Given the description of an element on the screen output the (x, y) to click on. 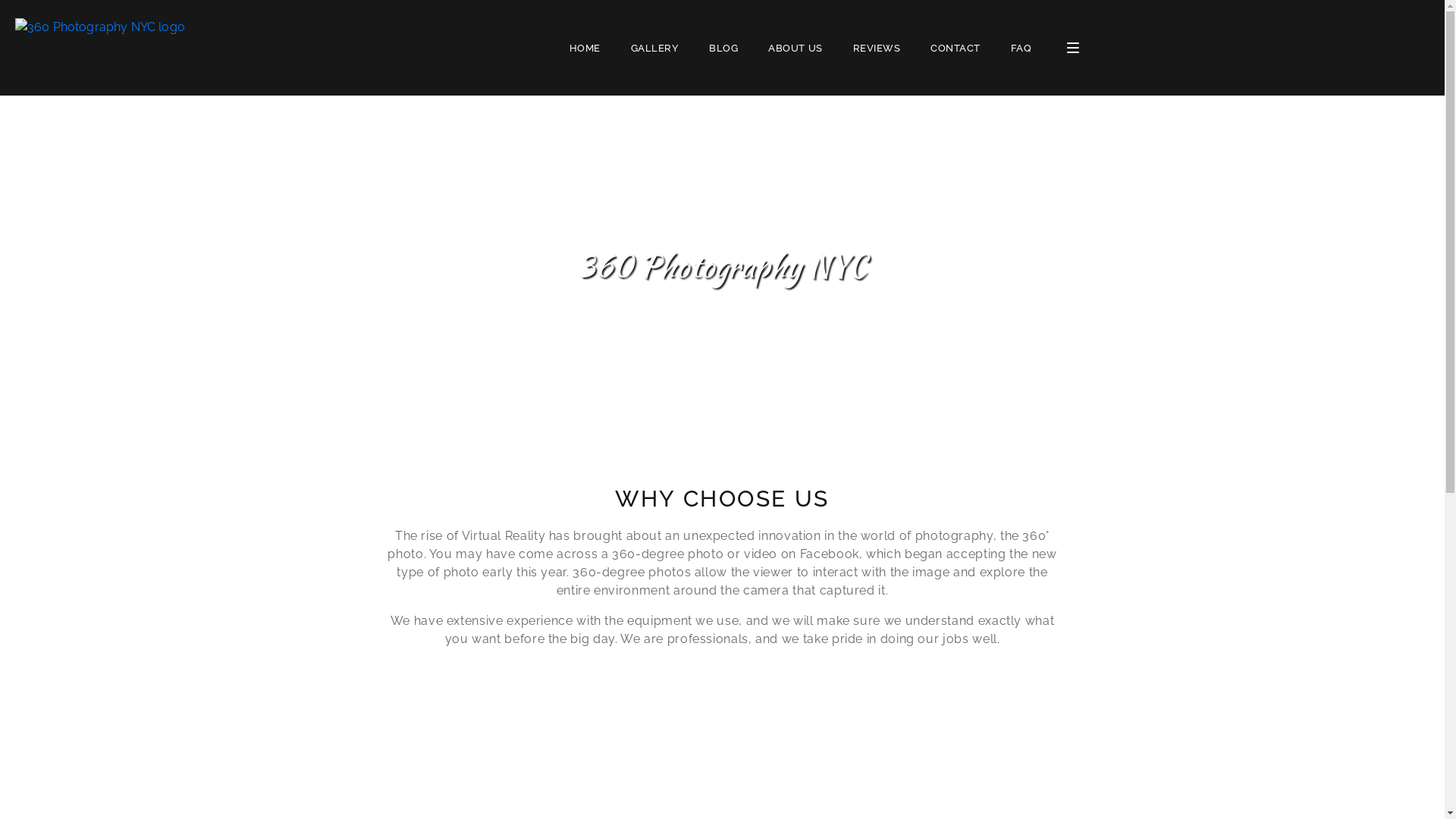
HOME Element type: text (584, 48)
CONTACT Element type: text (955, 48)
REVIEWS Element type: text (876, 48)
BLOG Element type: text (723, 48)
GALLERY Element type: text (654, 48)
ABOUT US Element type: text (795, 48)
FAQ Element type: text (1021, 48)
